Given the description of an element on the screen output the (x, y) to click on. 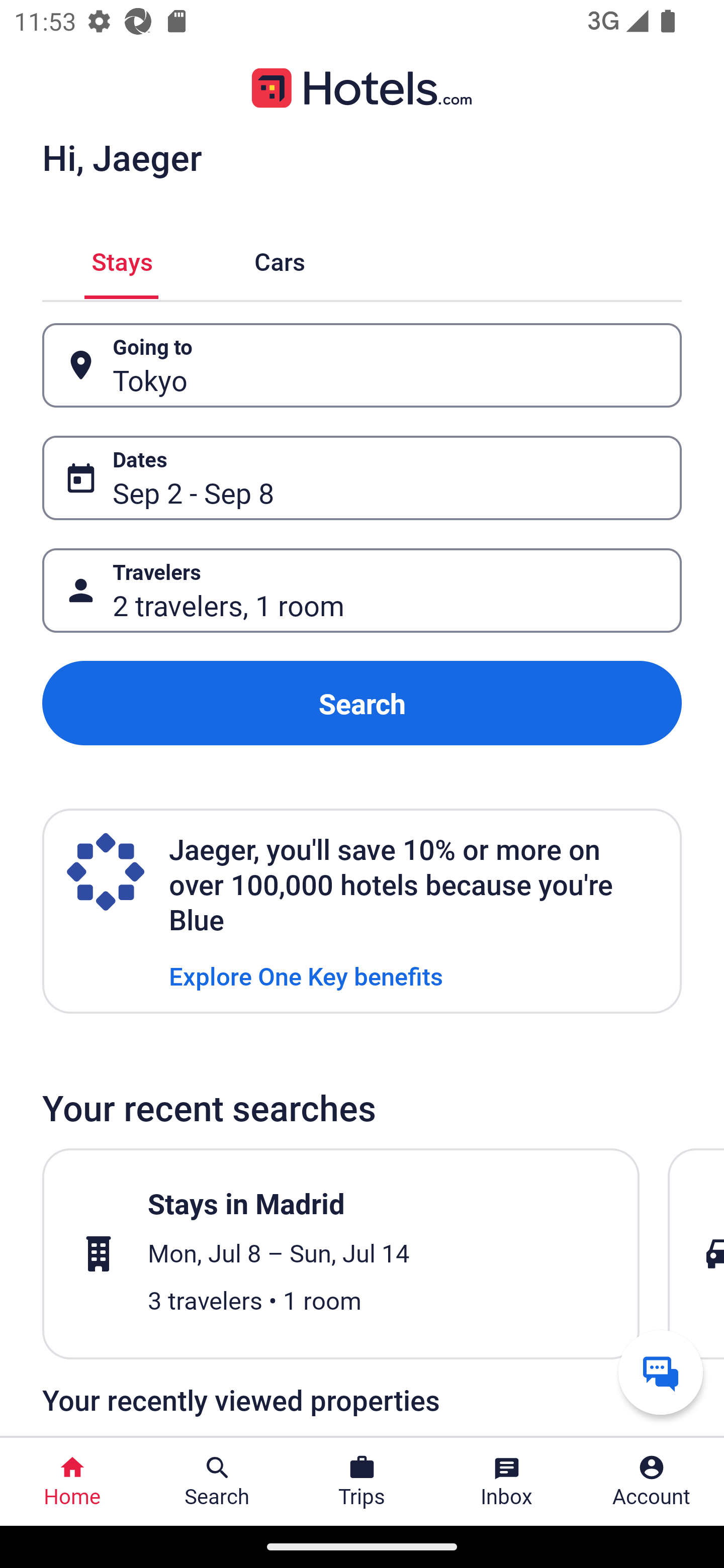
Hi, Jaeger (121, 156)
Cars (279, 259)
Going to Button Tokyo (361, 365)
Dates Button Sep 2 - Sep 8 (361, 477)
Travelers Button 2 travelers, 1 room (361, 590)
Search (361, 702)
Get help from a virtual agent (660, 1371)
Search Search Button (216, 1481)
Trips Trips Button (361, 1481)
Inbox Inbox Button (506, 1481)
Account Profile. Button (651, 1481)
